Given the description of an element on the screen output the (x, y) to click on. 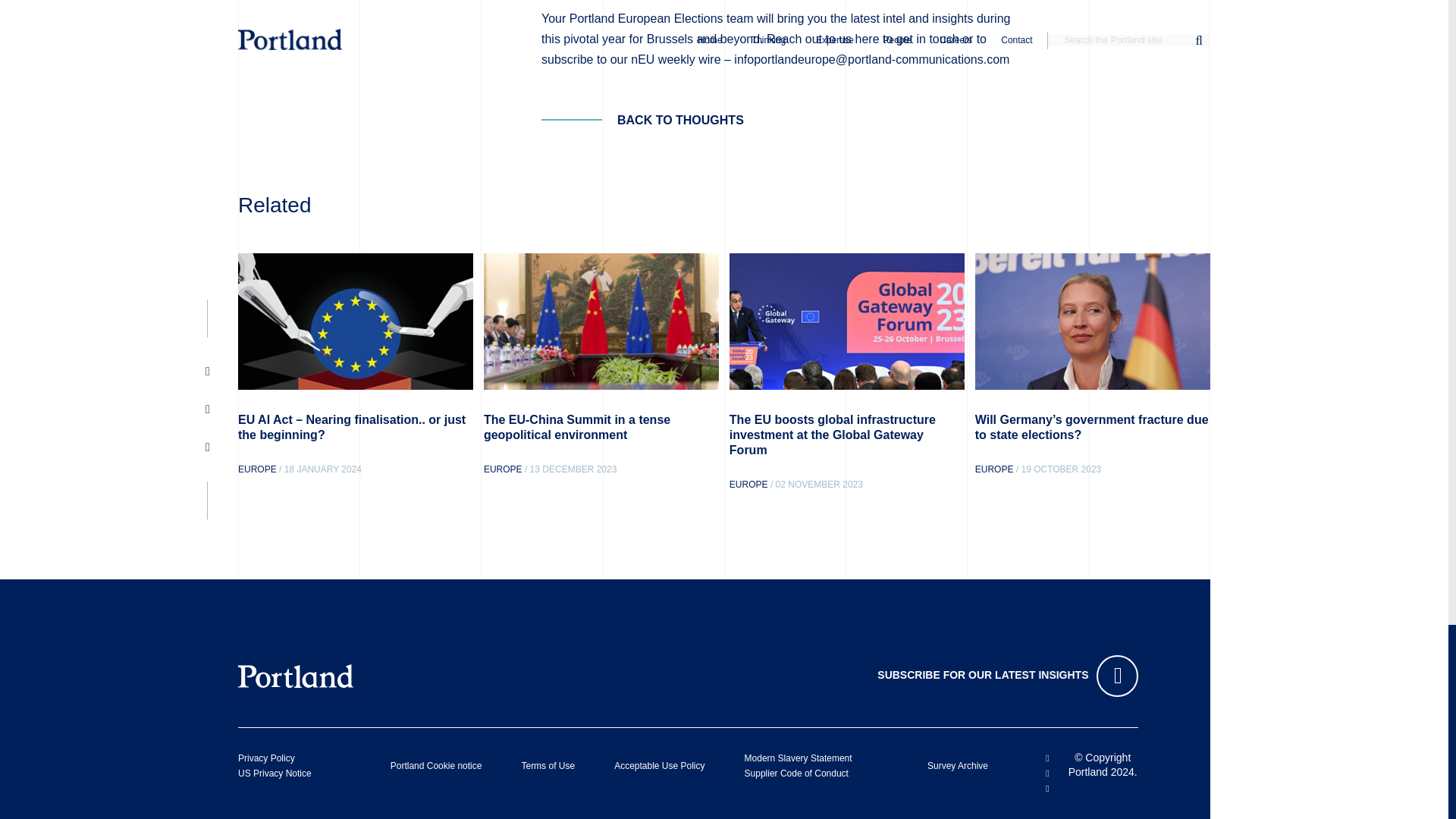
BACK TO THOUGHTS (642, 119)
The EU-China Summit in a tense geopolitical environment (576, 427)
EUROPE (257, 469)
EUROPE (502, 469)
EUROPE (748, 484)
